Given the description of an element on the screen output the (x, y) to click on. 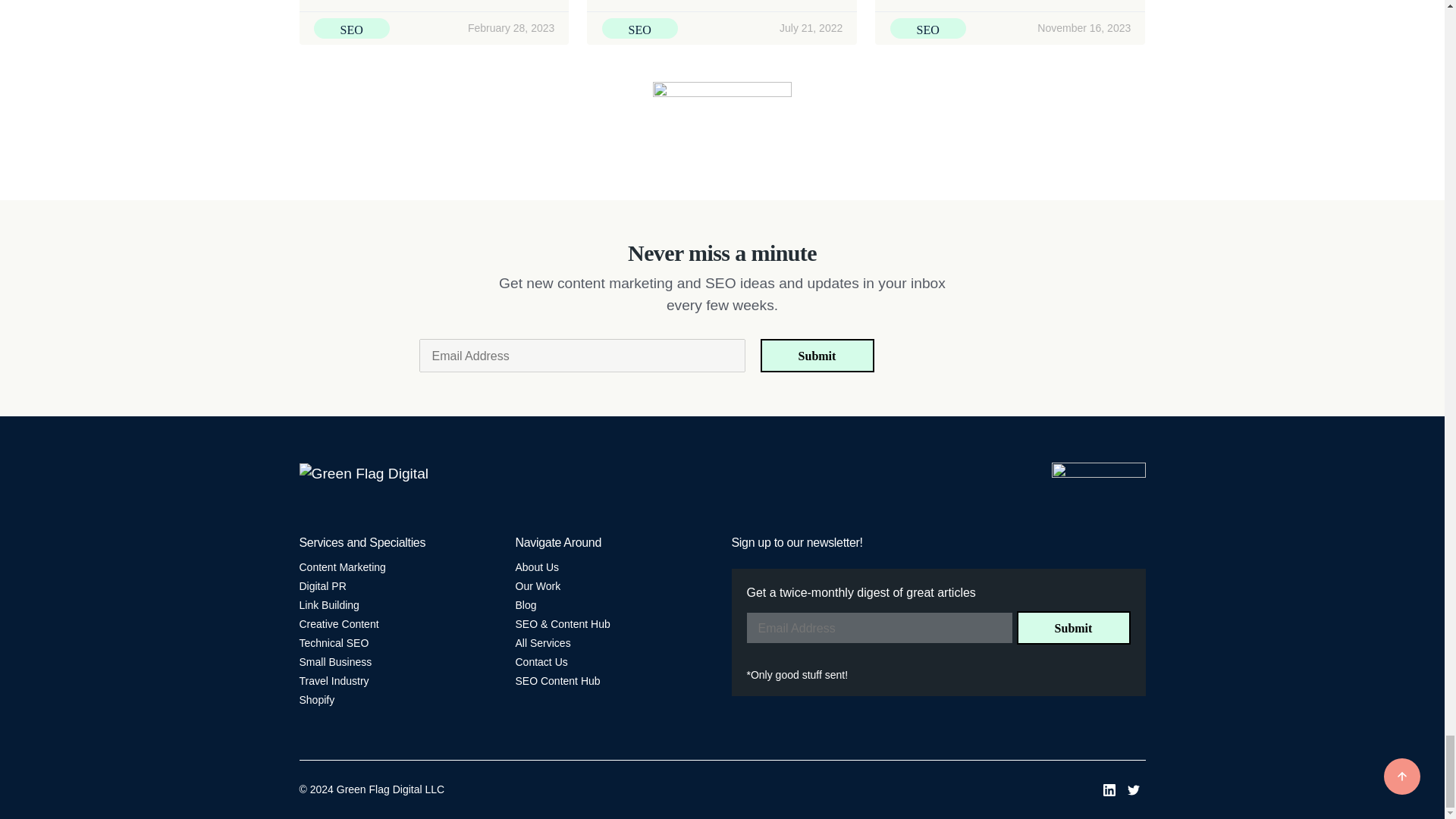
Twitter icon (1132, 789)
Submit (1072, 627)
LinkedIn icon (1108, 789)
SEO (352, 28)
Submit (816, 355)
